Given the description of an element on the screen output the (x, y) to click on. 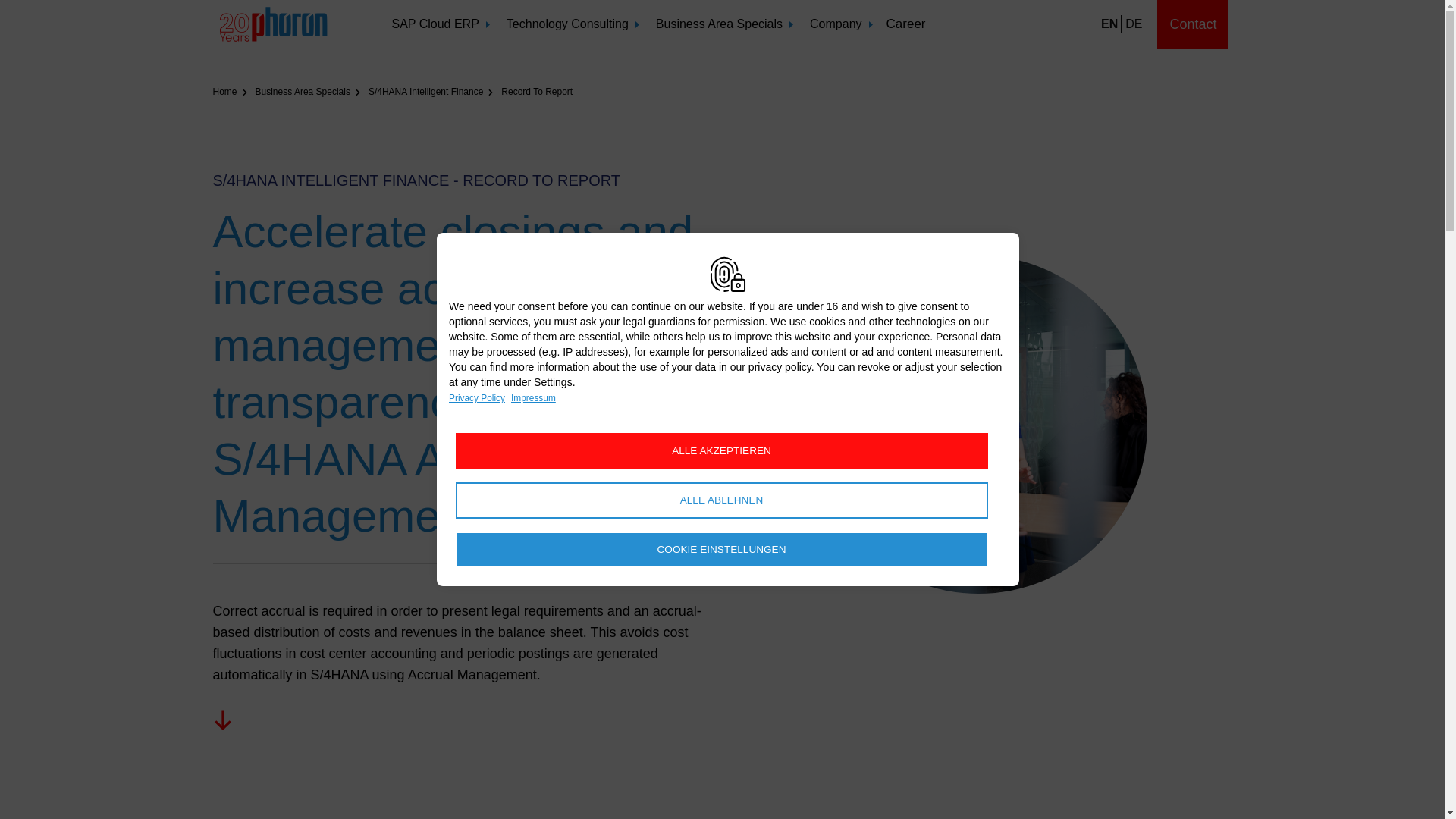
Business Area Specials (723, 23)
Career (906, 24)
Technology Consulting (571, 23)
Company (839, 23)
EN (1109, 24)
DE (1133, 24)
SAP Cloud ERP (440, 23)
